Given the description of an element on the screen output the (x, y) to click on. 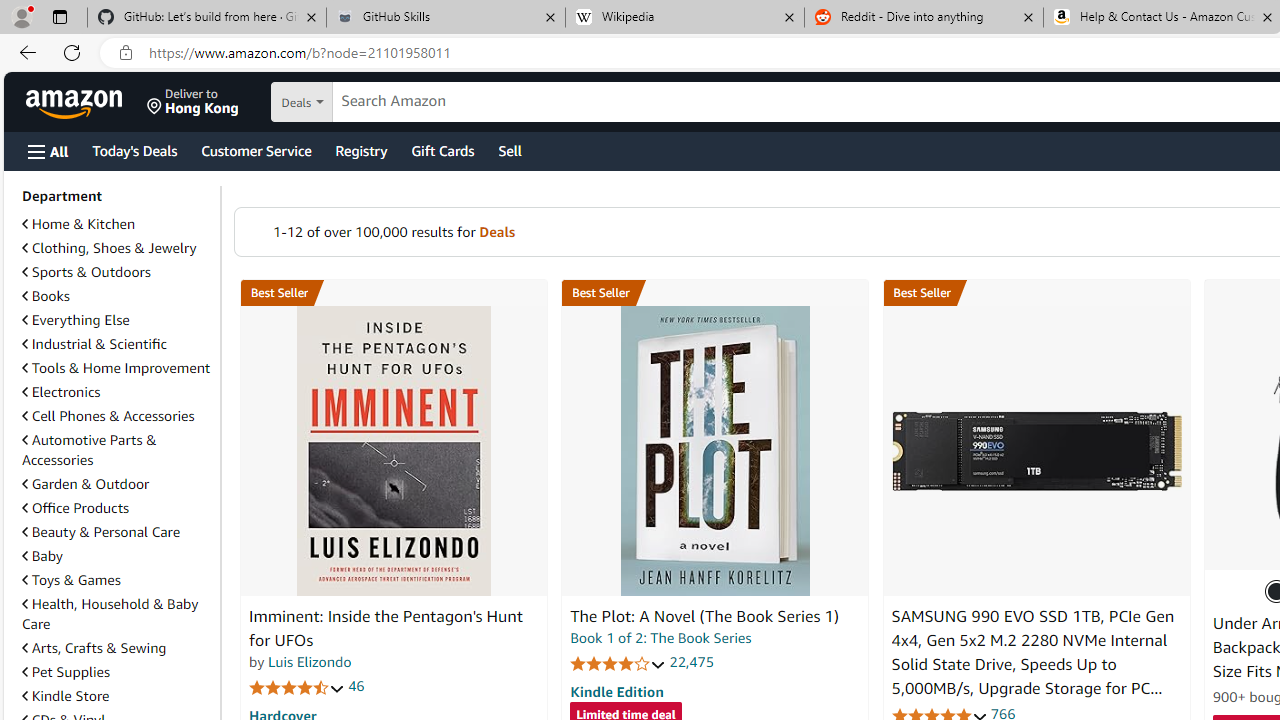
Pet Supplies (65, 672)
Garden & Outdoor (117, 483)
Cell Phones & Accessories (117, 416)
Gift Cards (442, 150)
Best Seller in Internal Solid State Drives (1036, 293)
Arts, Crafts & Sewing (117, 647)
Everything Else (117, 319)
Tools & Home Improvement (117, 367)
4.2 out of 5 stars (617, 663)
Imminent: Inside the Pentagon's Hunt for UFOs (386, 628)
Imminent: Inside the Pentagon's Hunt for UFOs (393, 451)
Luis Elizondo (309, 662)
